Given the description of an element on the screen output the (x, y) to click on. 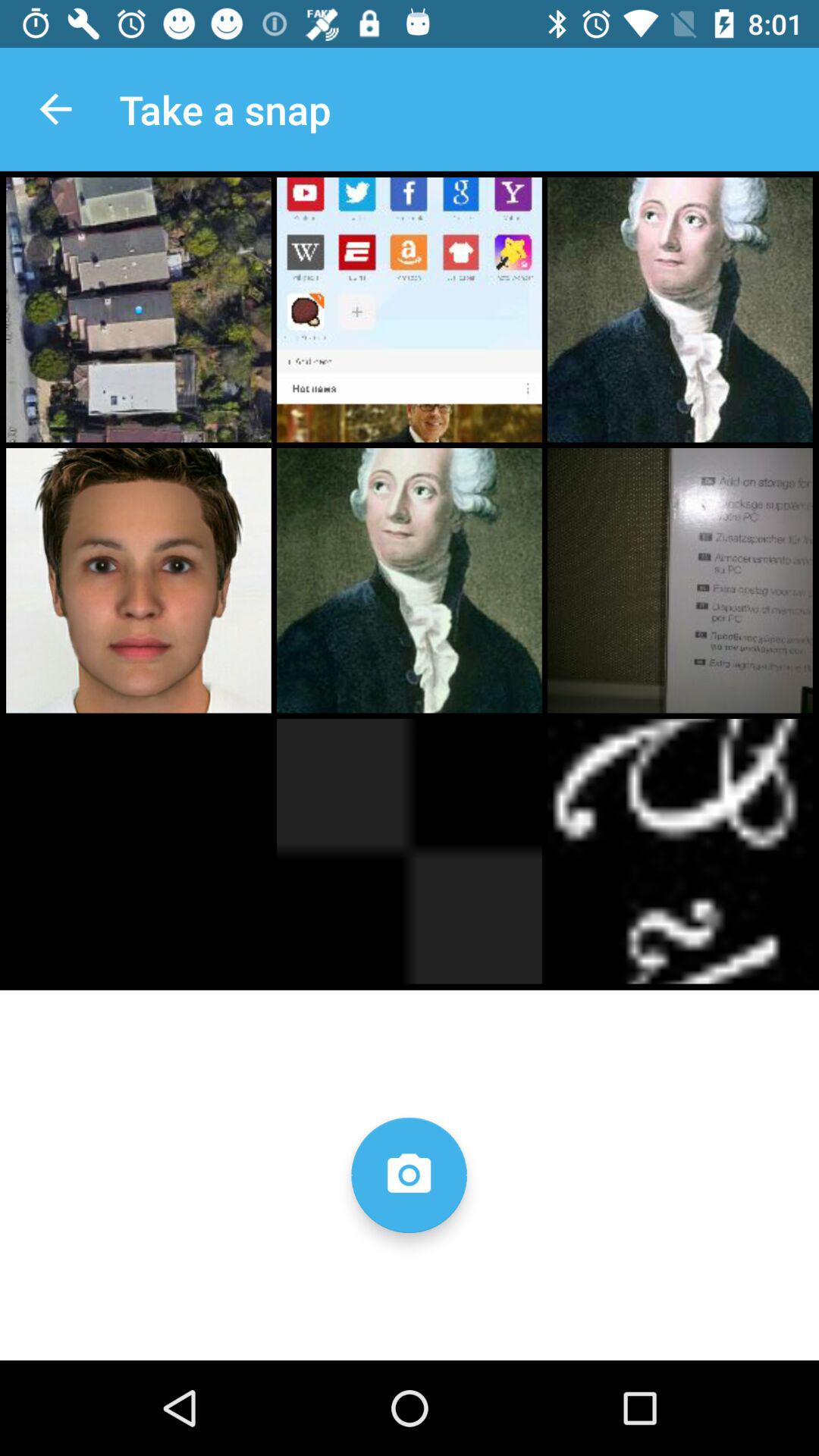
camera button (408, 1175)
